Given the description of an element on the screen output the (x, y) to click on. 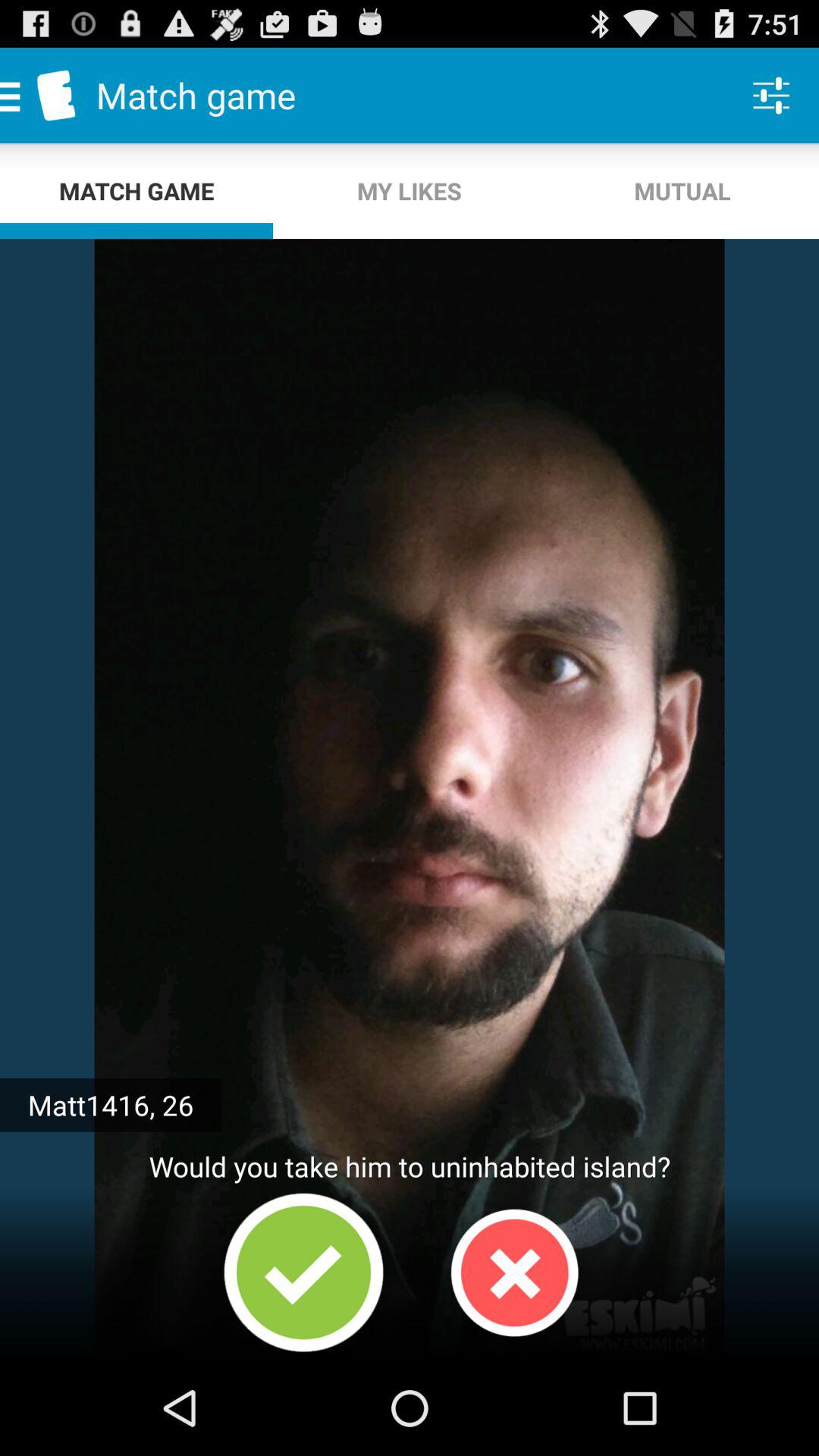
scroll to mutual (682, 190)
